Given the description of an element on the screen output the (x, y) to click on. 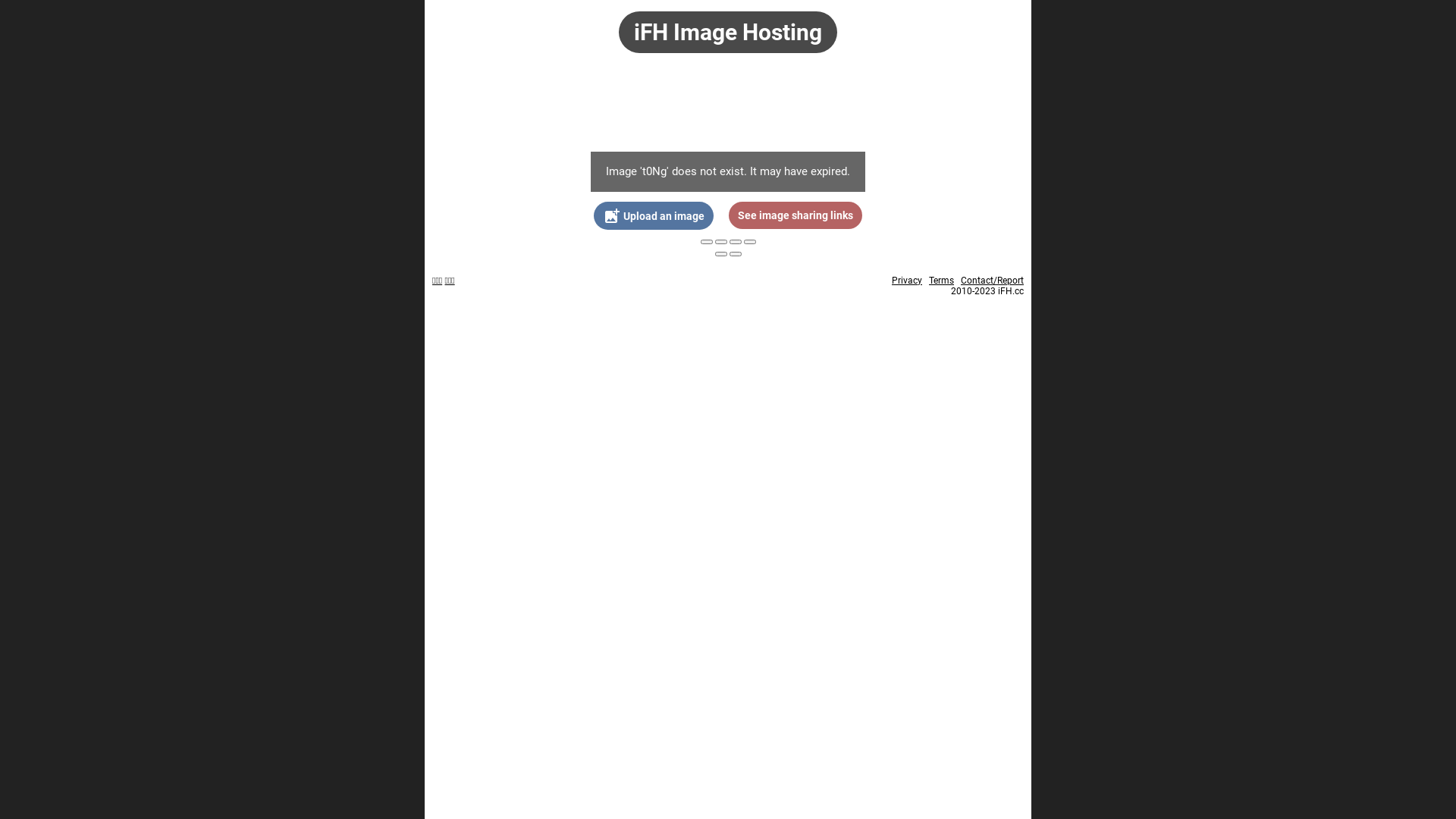
Terms Element type: text (940, 280)
iFH Image Hosting Element type: text (727, 32)
add_photo_alternate Upload an image Element type: text (653, 215)
Advertisement Element type: hover (727, 109)
Contact/Report Element type: text (991, 280)
Privacy Element type: text (906, 280)
Advertisement Element type: hover (727, 417)
See image sharing links Element type: text (795, 215)
(Esc) Element type: hover (706, 241)
